Given the description of an element on the screen output the (x, y) to click on. 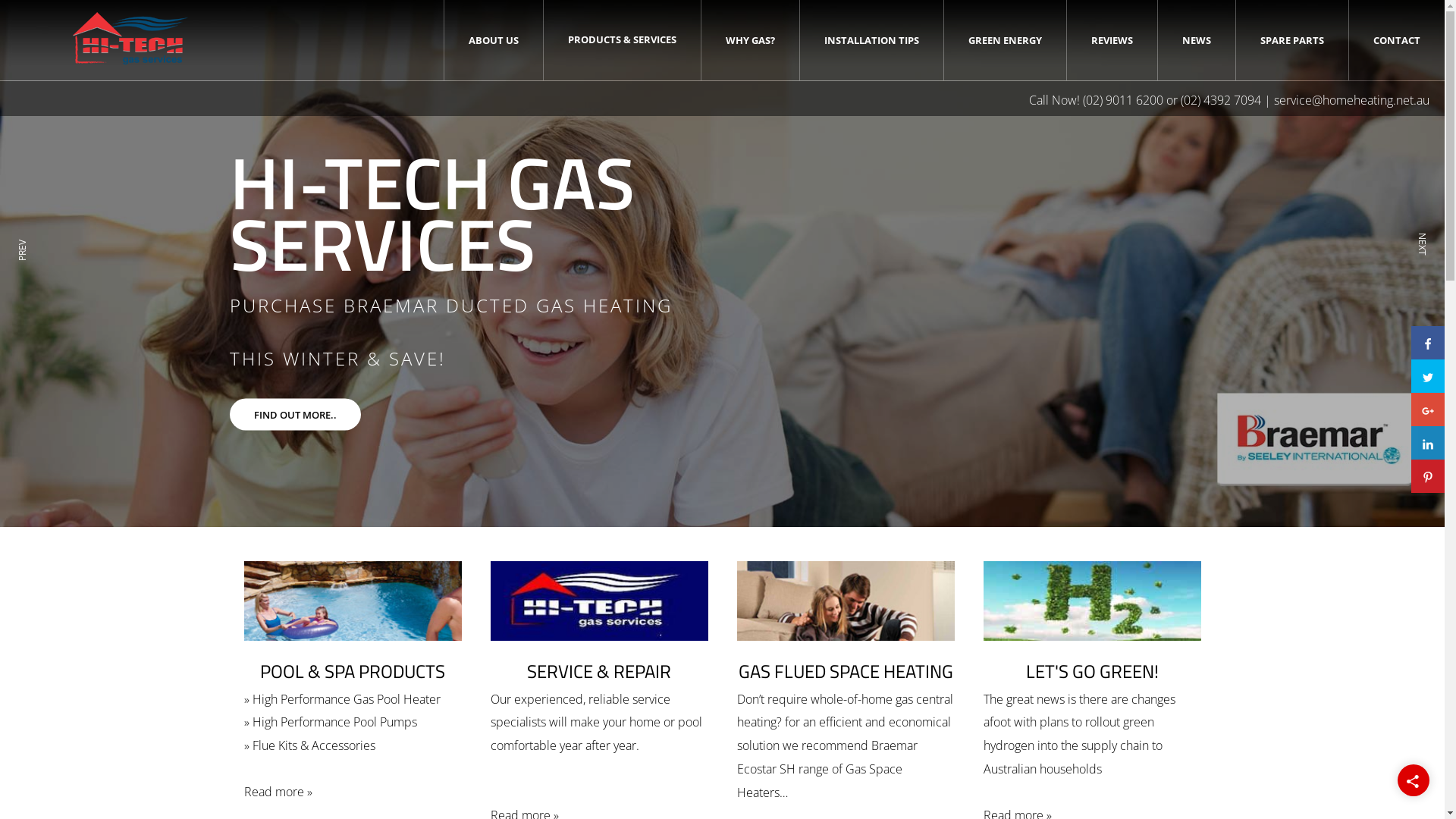
GREEN ENERGY Element type: text (1004, 40)
PRODUCTS & SERVICES Element type: text (621, 39)
(02) 4392 7094 Element type: text (1220, 99)
REVIEWS Element type: text (1111, 40)
CONTACT Element type: text (1396, 40)
service@homeheating.net.au Element type: text (1351, 99)
(02) 9011 6200 Element type: text (1122, 99)
INSTALLATION TIPS Element type: text (871, 40)
WHY GAS? Element type: text (750, 40)
ABOUT US Element type: text (493, 40)
PREV Element type: text (24, 265)
SPARE PARTS Element type: text (1292, 40)
NEWS Element type: text (1196, 40)
NEXT Element type: text (1419, 265)
PRODUCTS & SERVICES Element type: text (621, 39)
gas central heating? Element type: text (845, 710)
